Given the description of an element on the screen output the (x, y) to click on. 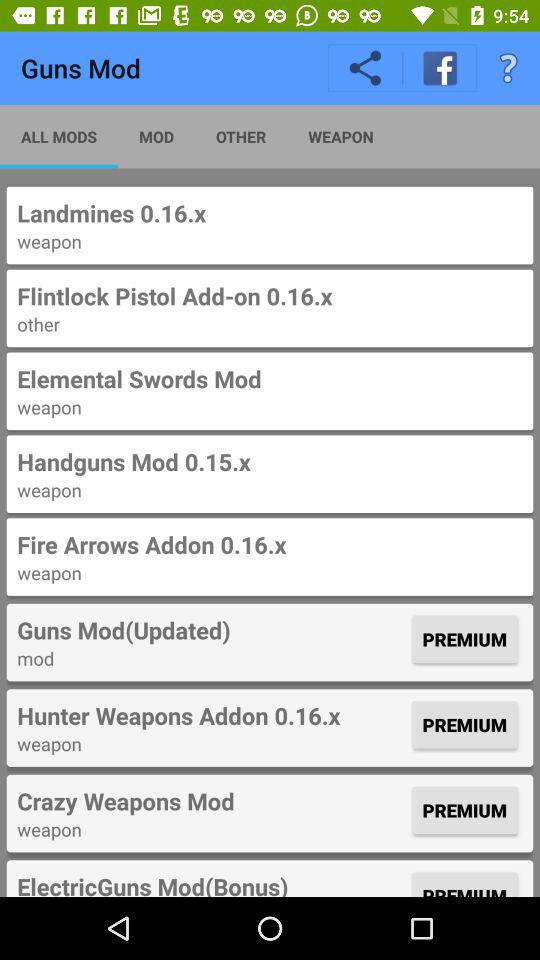
launch the item above landmines 0 16 (508, 67)
